Given the description of an element on the screen output the (x, y) to click on. 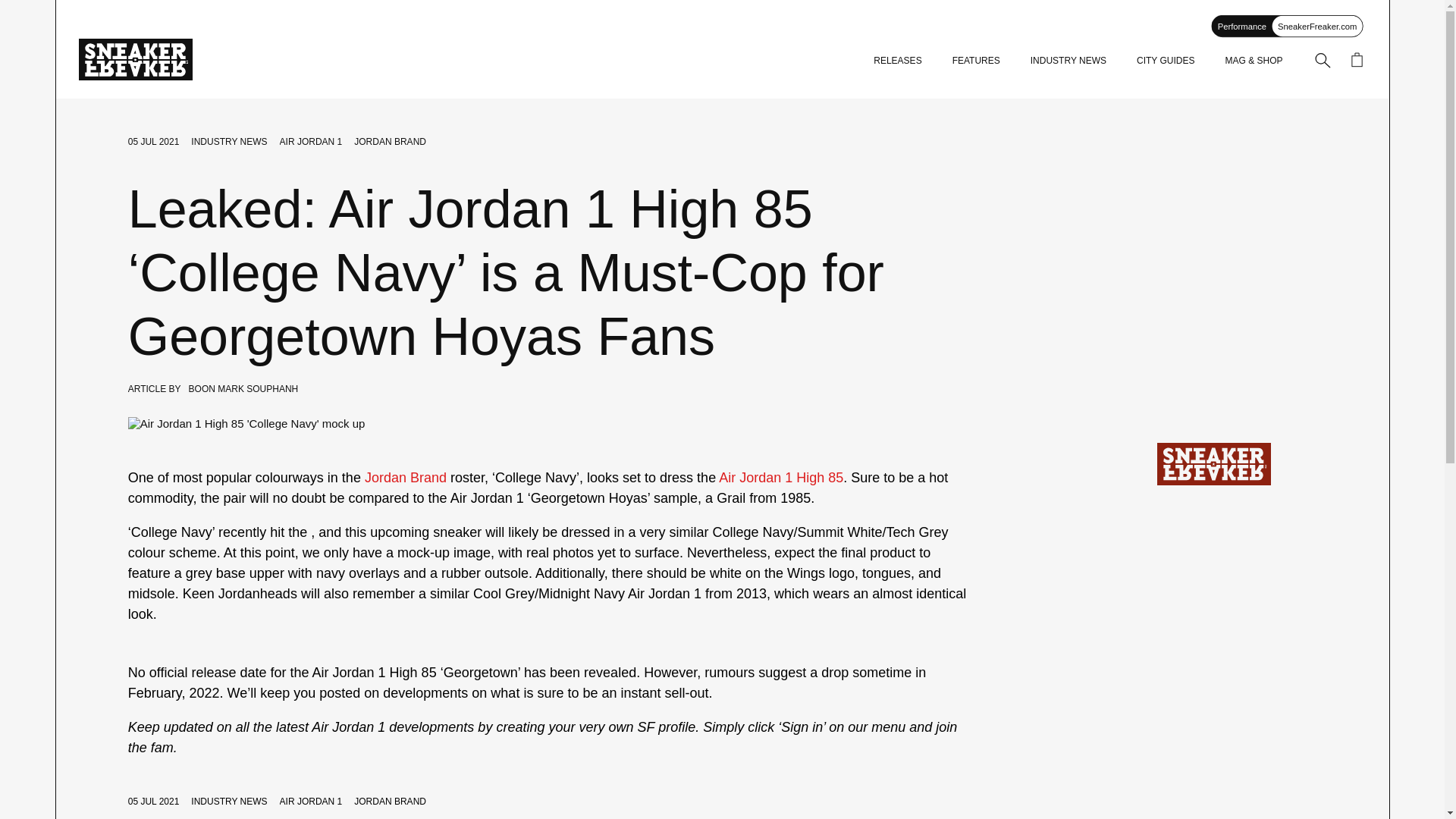
Air Jordan 1 High 85 (781, 477)
FEATURES (976, 60)
RELEASES (897, 60)
Jordan Brand (405, 477)
AIR JORDAN 1 (310, 141)
JORDAN BRAND (389, 141)
INDUSTRY NEWS (228, 801)
CITY GUIDES (1165, 60)
INDUSTRY NEWS (228, 141)
INDUSTRY NEWS (1068, 60)
